Given the description of an element on the screen output the (x, y) to click on. 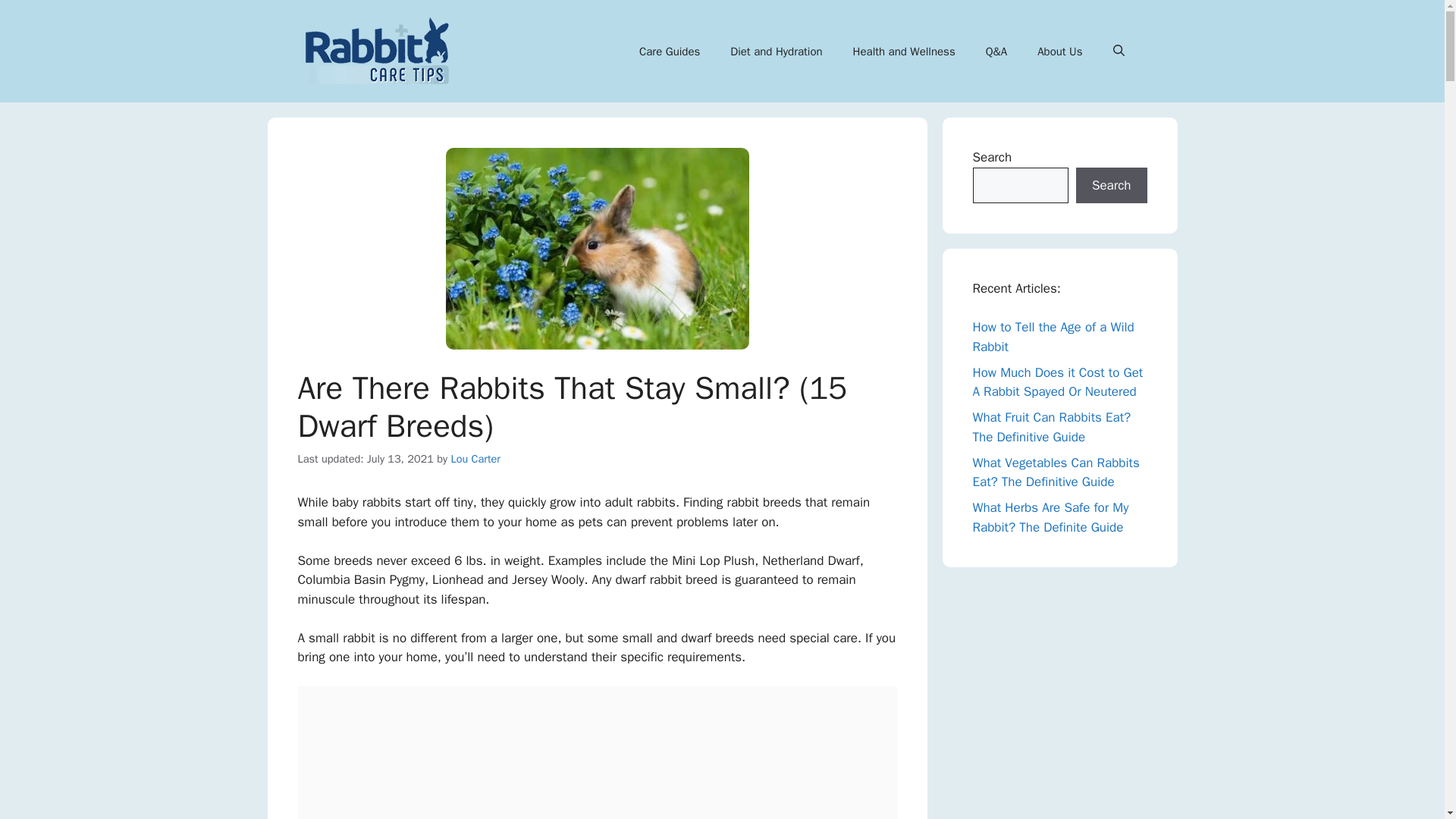
Diet and Hydration (775, 51)
Care Guides (669, 51)
About Us (1059, 51)
Lou Carter (474, 459)
Health and Wellness (904, 51)
